Given the description of an element on the screen output the (x, y) to click on. 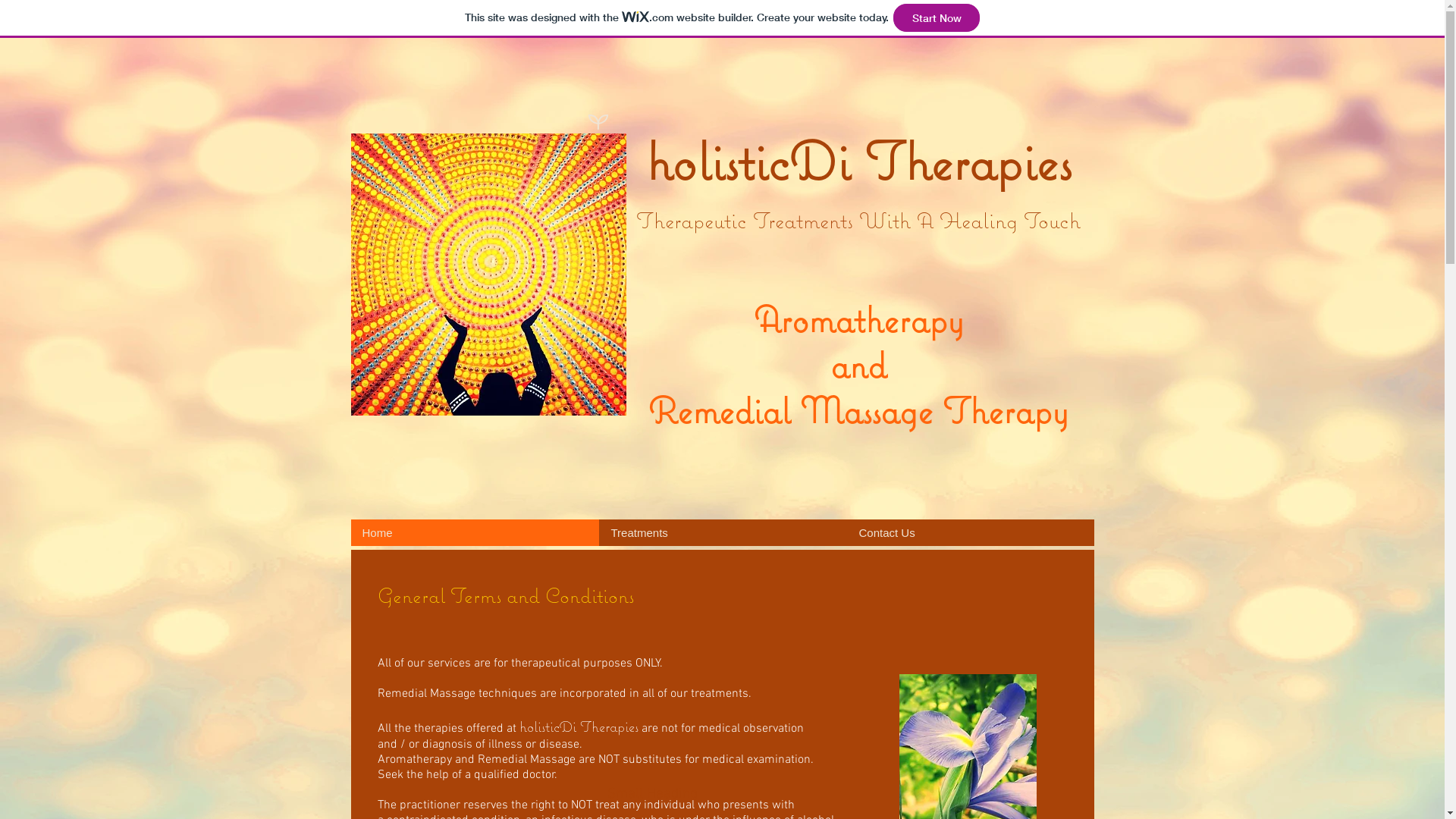
Home Element type: text (474, 532)
LOGO-holisticDi Therapies.JPG Element type: hover (487, 273)
Treatments Element type: text (723, 532)
Contact Us Element type: text (969, 532)
